Given the description of an element on the screen output the (x, y) to click on. 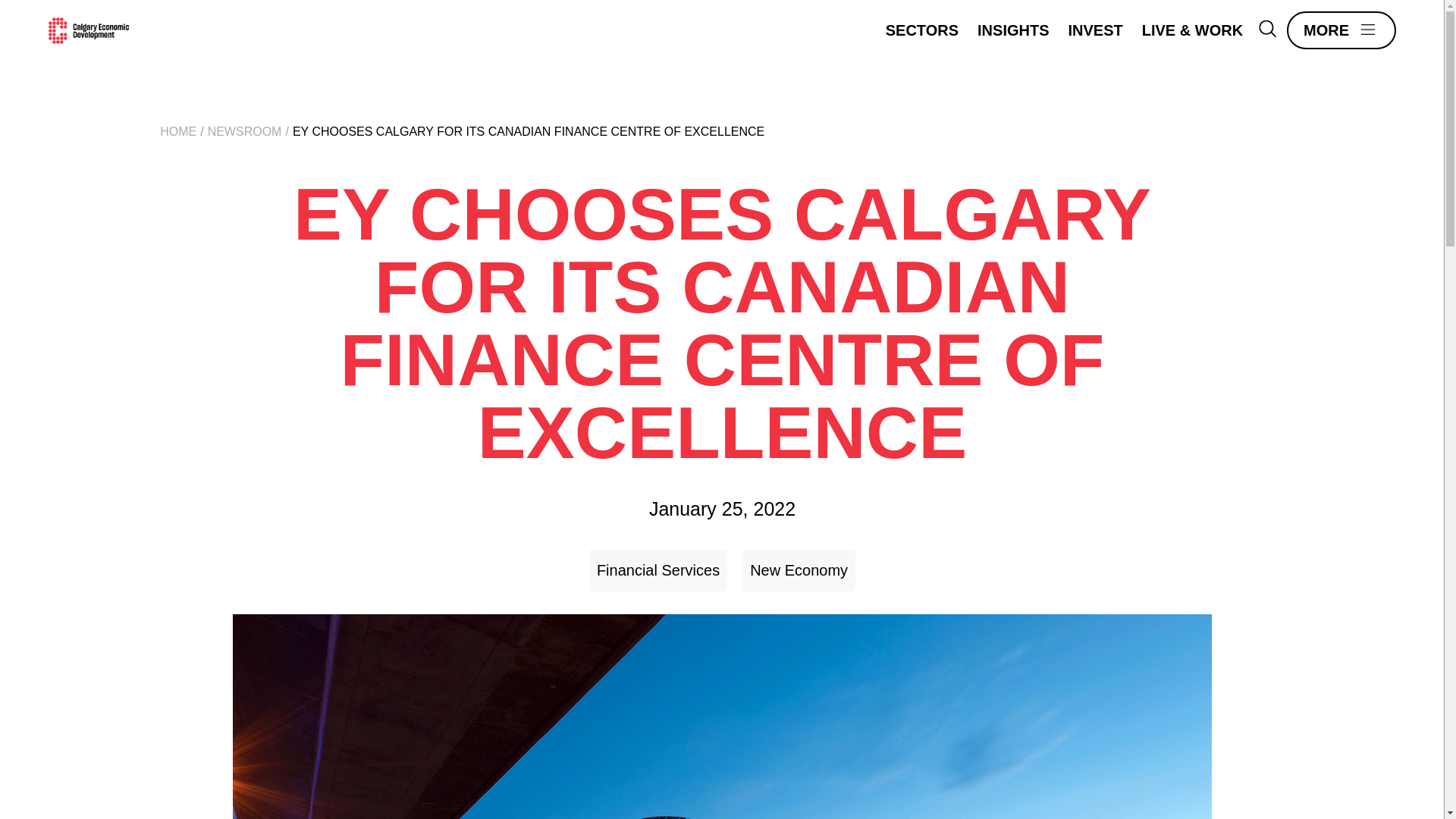
INVEST (1094, 30)
INSIGHTS (1012, 30)
MORE (1341, 30)
SECTORS (921, 30)
